Given the description of an element on the screen output the (x, y) to click on. 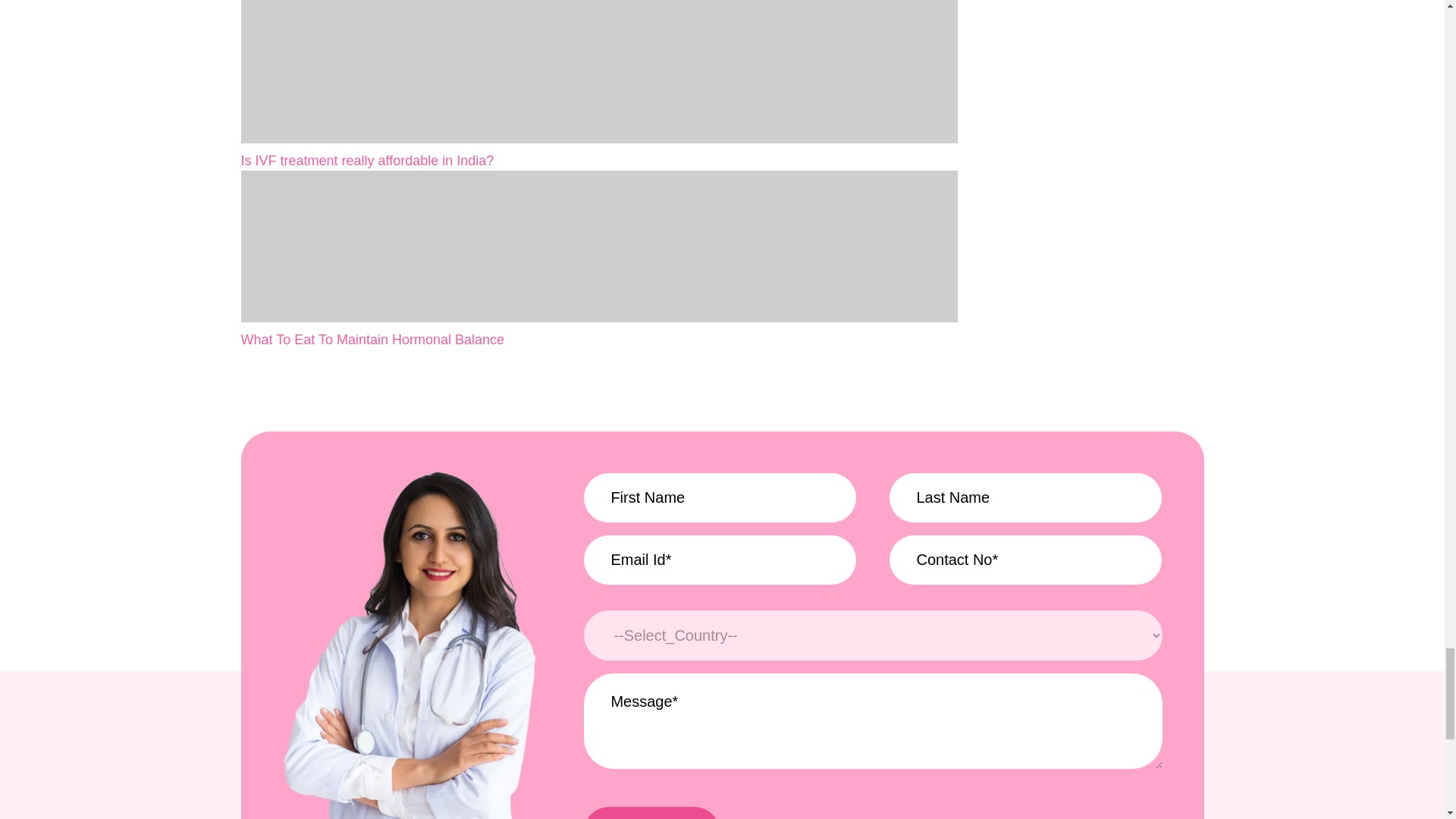
Send (651, 812)
